Given the description of an element on the screen output the (x, y) to click on. 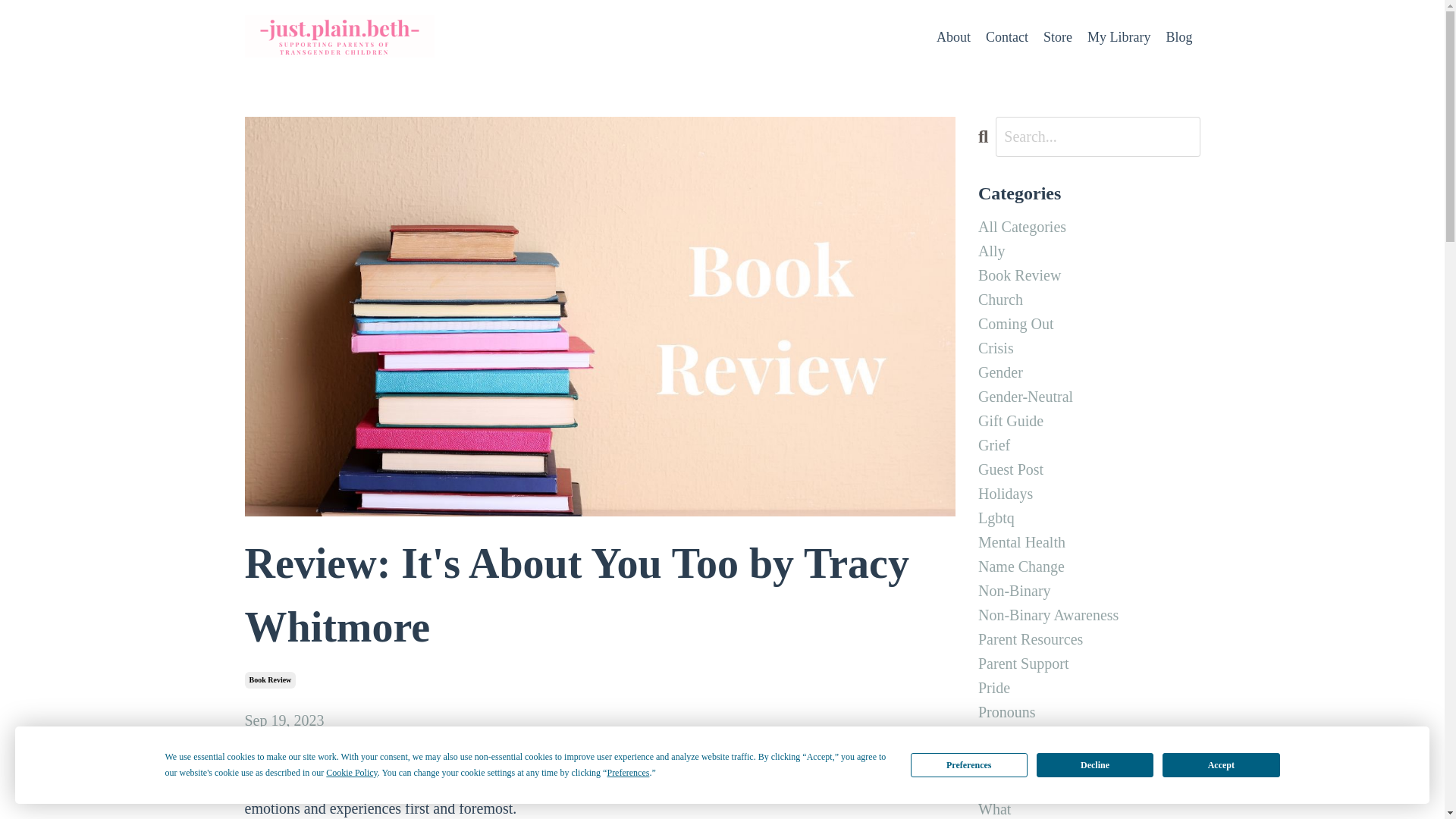
Crisis (1088, 347)
Coming Out (1088, 323)
Non-Binary (1088, 590)
Ally (1088, 250)
Book Review (269, 679)
Mental Health (1088, 541)
So Your Child Is Transgender Now What (1088, 796)
Contact (1006, 37)
My Library (1118, 37)
Guest Post (1088, 469)
Book Review (1088, 274)
Pronouns (1088, 711)
About (953, 37)
Holidays (1088, 493)
Self-Care (1088, 760)
